Given the description of an element on the screen output the (x, y) to click on. 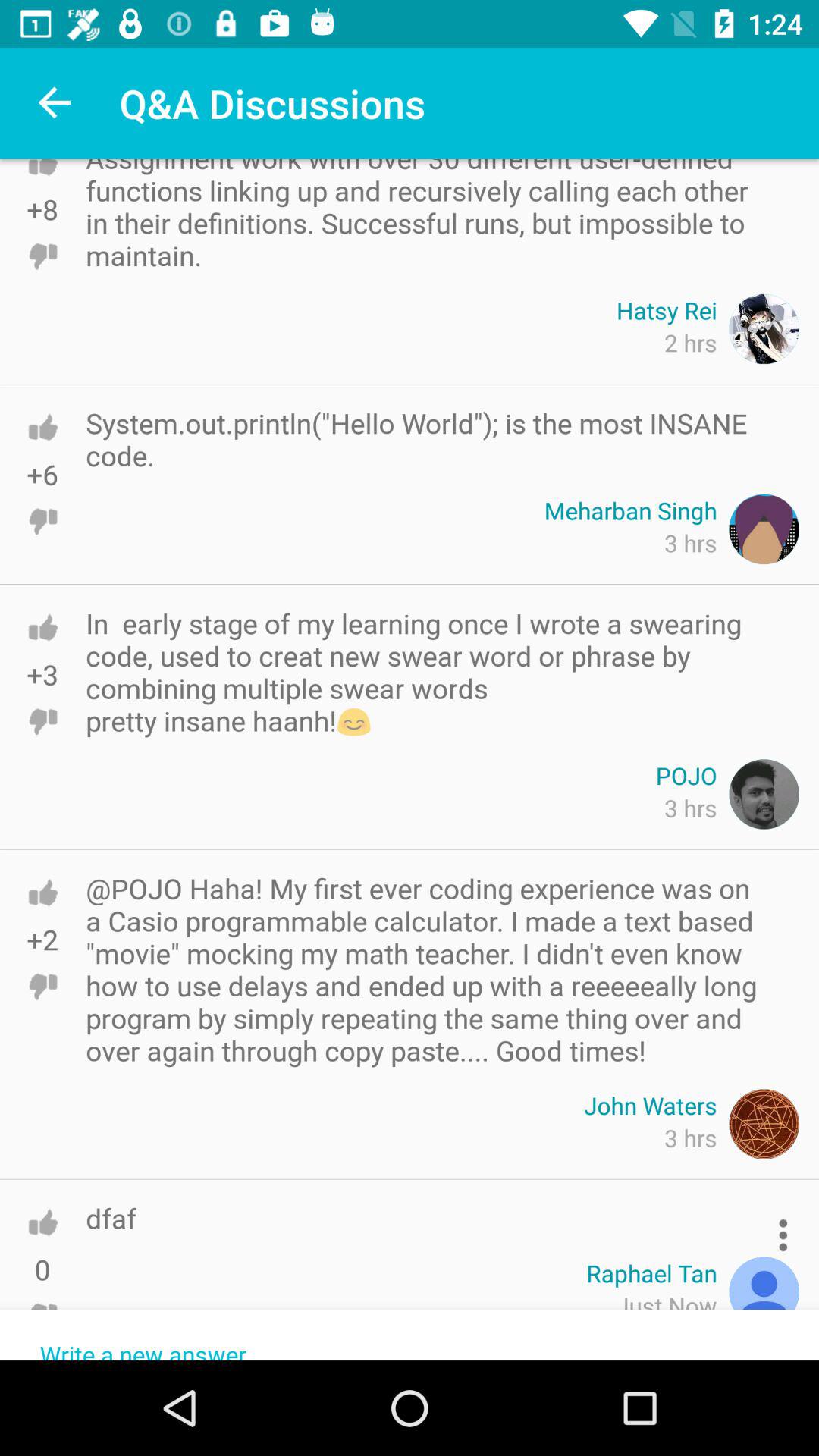
dislike displayed answer (42, 1316)
